Given the description of an element on the screen output the (x, y) to click on. 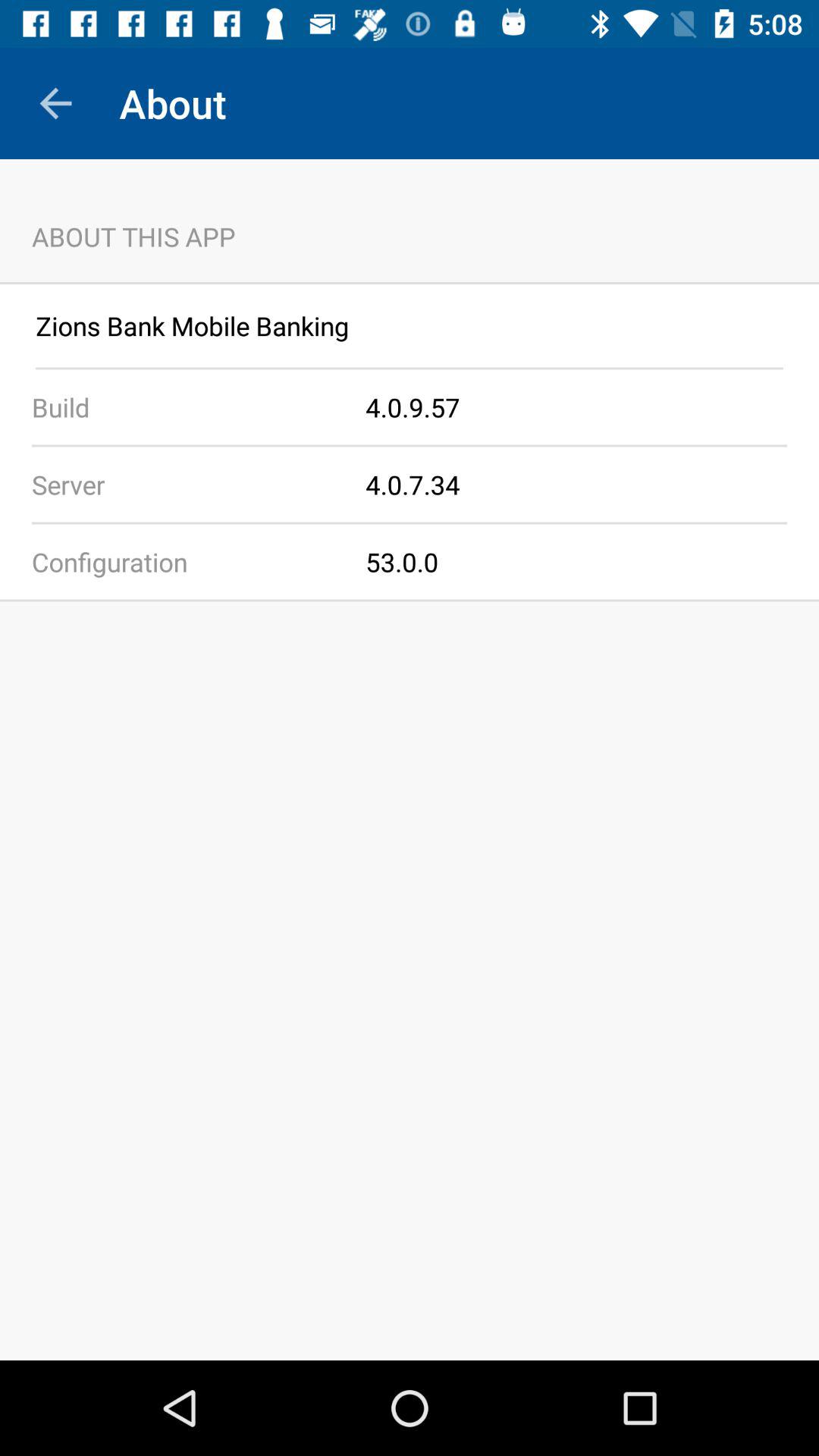
select icon below about this app icon (409, 283)
